Given the description of an element on the screen output the (x, y) to click on. 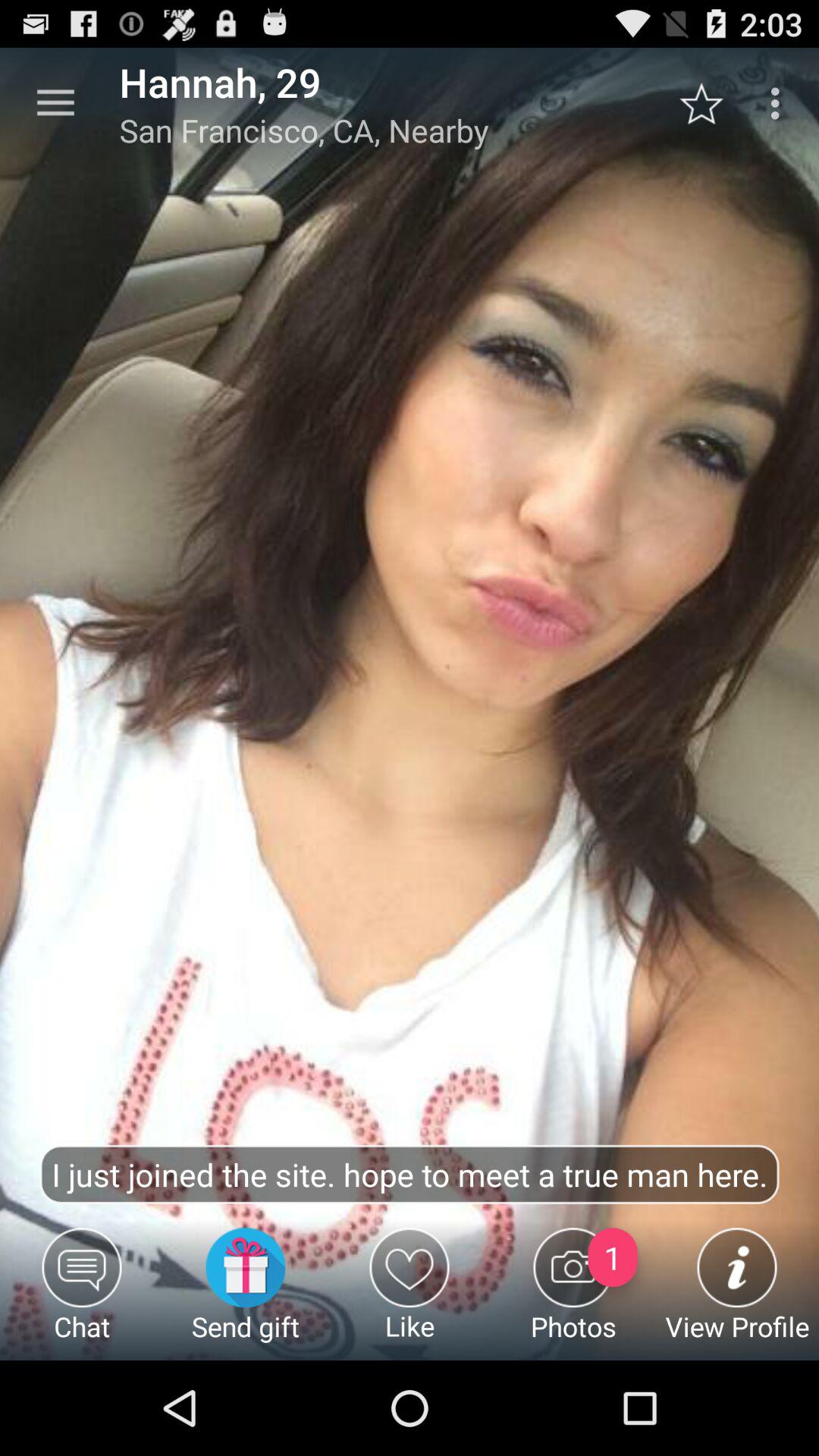
jump until chat icon (81, 1293)
